Given the description of an element on the screen output the (x, y) to click on. 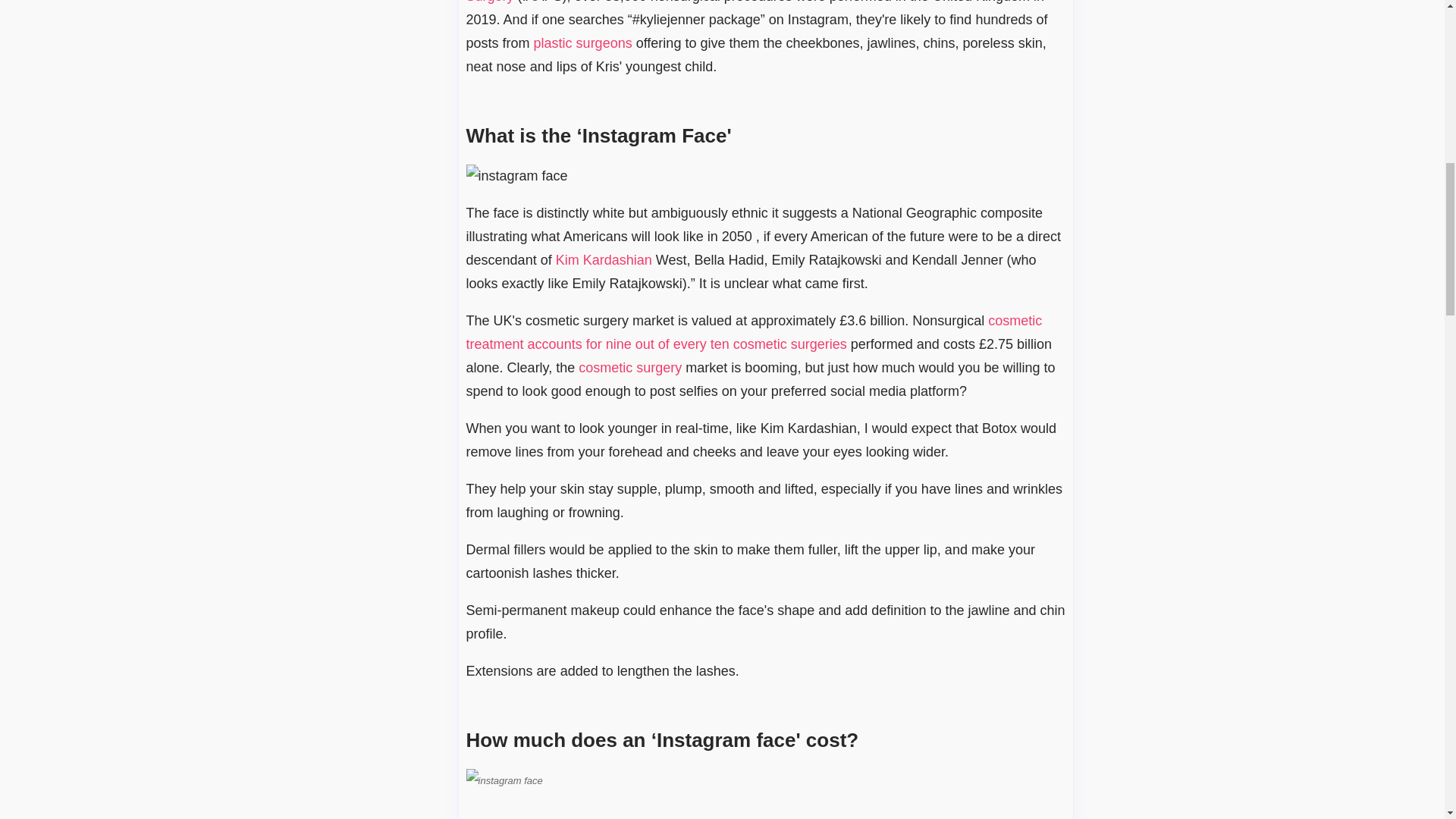
cosmetic surgery (629, 367)
plastic surgeons (582, 43)
Kim Kardashian (604, 259)
